Given the description of an element on the screen output the (x, y) to click on. 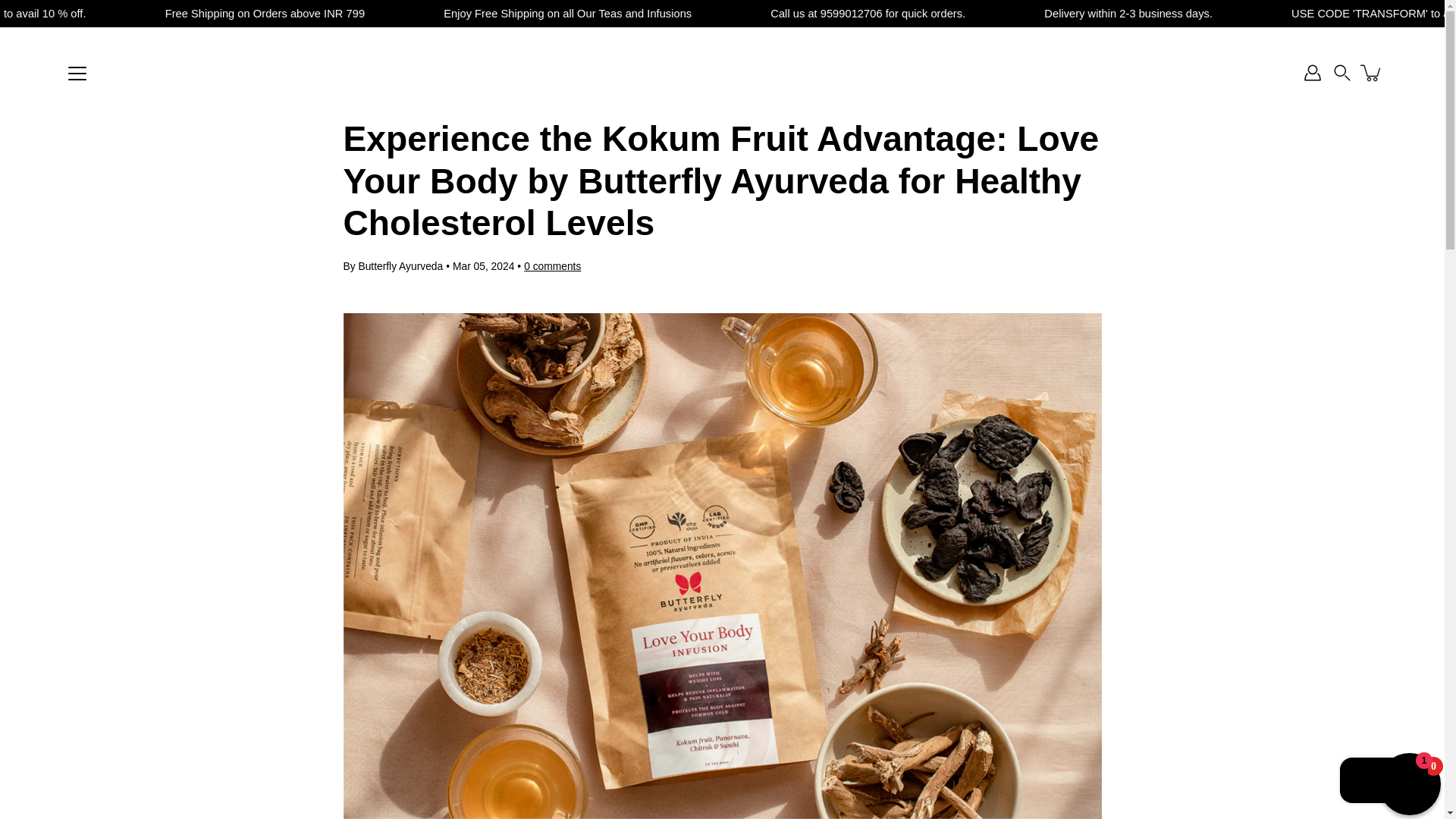
Shopify online store chat (1383, 781)
Search (1342, 72)
